Given the description of an element on the screen output the (x, y) to click on. 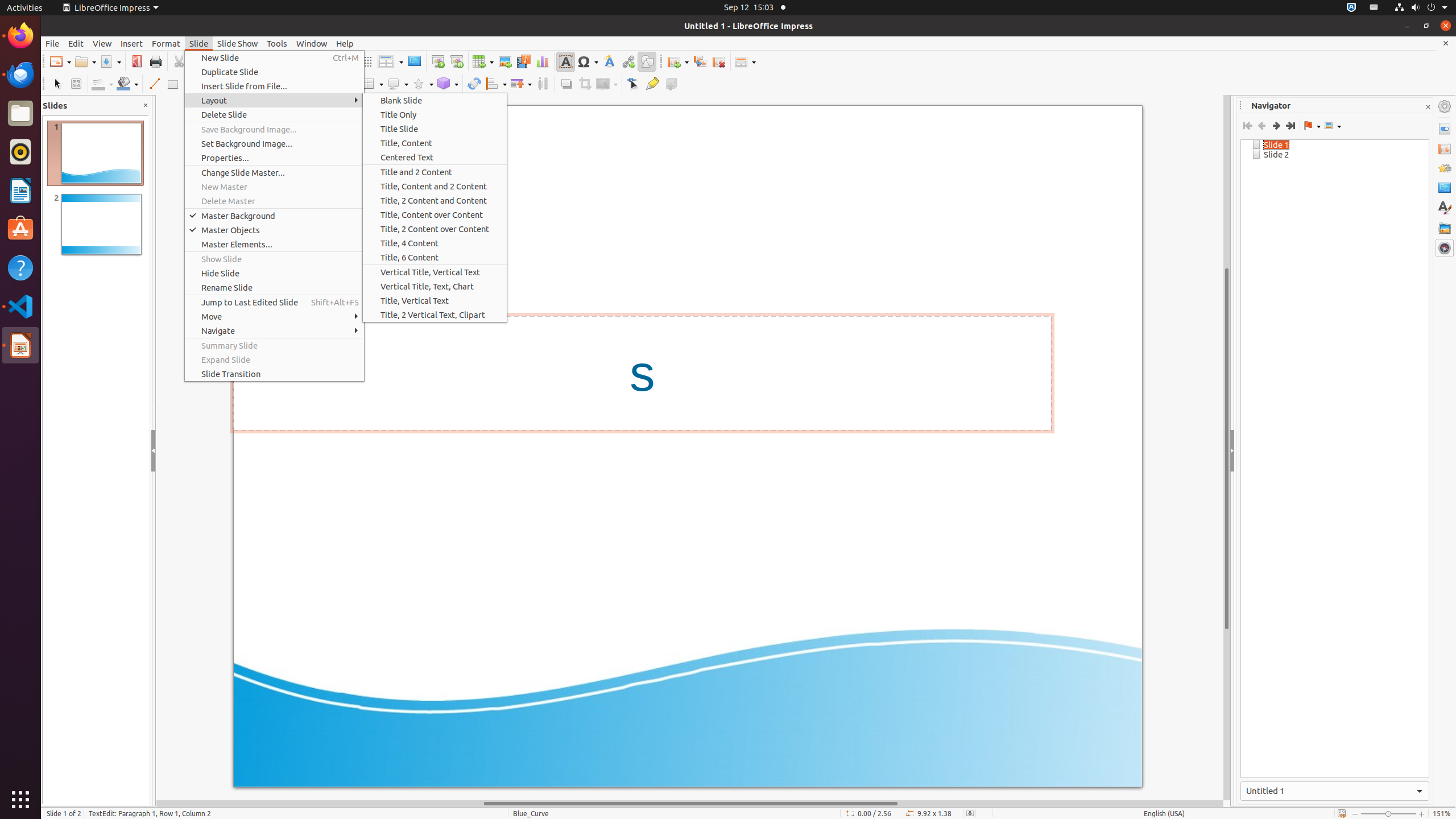
Title, 2 Vertical Text, Clipart Element type: menu-item (434, 314)
Ubuntu Software Element type: push-button (20, 229)
Vertical Title, Vertical Text Element type: menu-item (434, 272)
Slide Transition Element type: radio-button (1444, 148)
Properties... Element type: menu-item (274, 157)
